Given the description of an element on the screen output the (x, y) to click on. 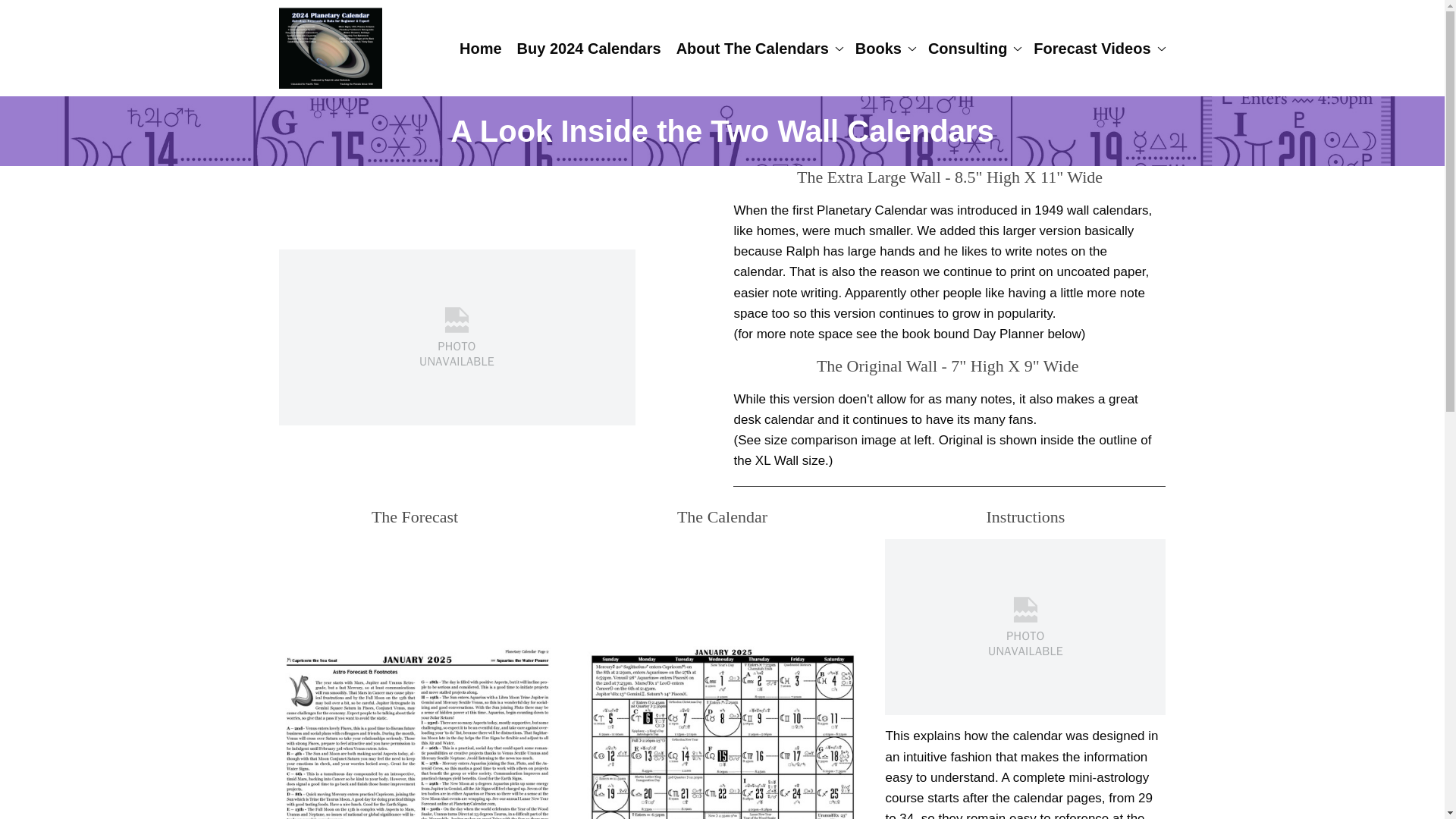
Books (884, 48)
About The Calendars (758, 48)
Buy 2024 Calendars (589, 48)
Consulting (973, 48)
Forecast Videos (1097, 48)
Home (480, 48)
